Given the description of an element on the screen output the (x, y) to click on. 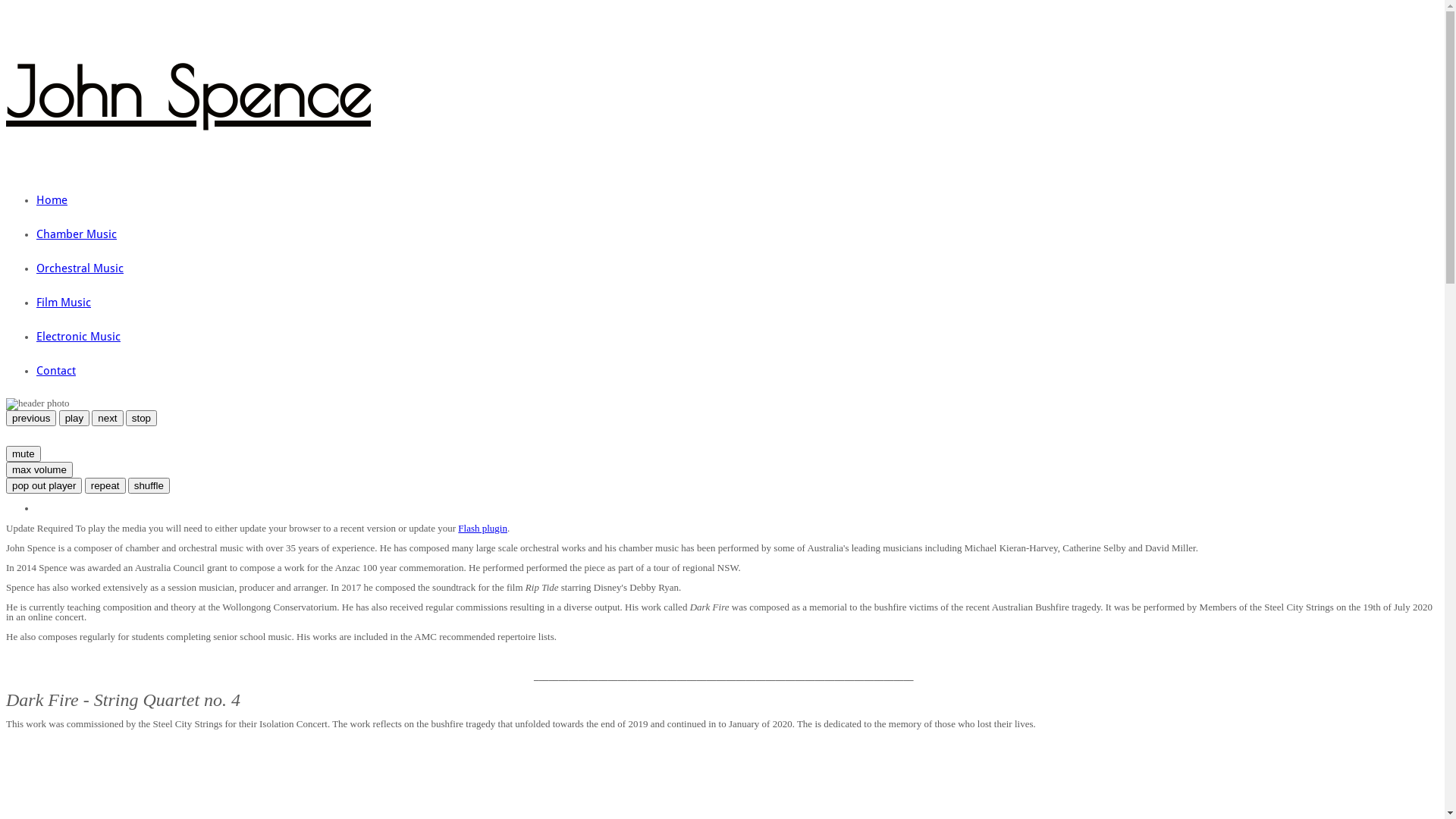
Chamber Music Element type: text (76, 234)
previous Element type: text (31, 418)
Home Element type: text (51, 200)
John Spence Element type: text (188, 91)
Electronic Music Element type: text (78, 336)
pop out player Element type: text (43, 485)
play Element type: text (74, 418)
next Element type: text (106, 418)
shuffle Element type: text (148, 485)
repeat Element type: text (104, 485)
Contact Element type: text (55, 370)
Film Music Element type: text (63, 302)
max volume Element type: text (39, 469)
Flash plugin Element type: text (482, 527)
stop Element type: text (140, 418)
Orchestral Music Element type: text (79, 268)
mute Element type: text (23, 453)
